Given the description of an element on the screen output the (x, y) to click on. 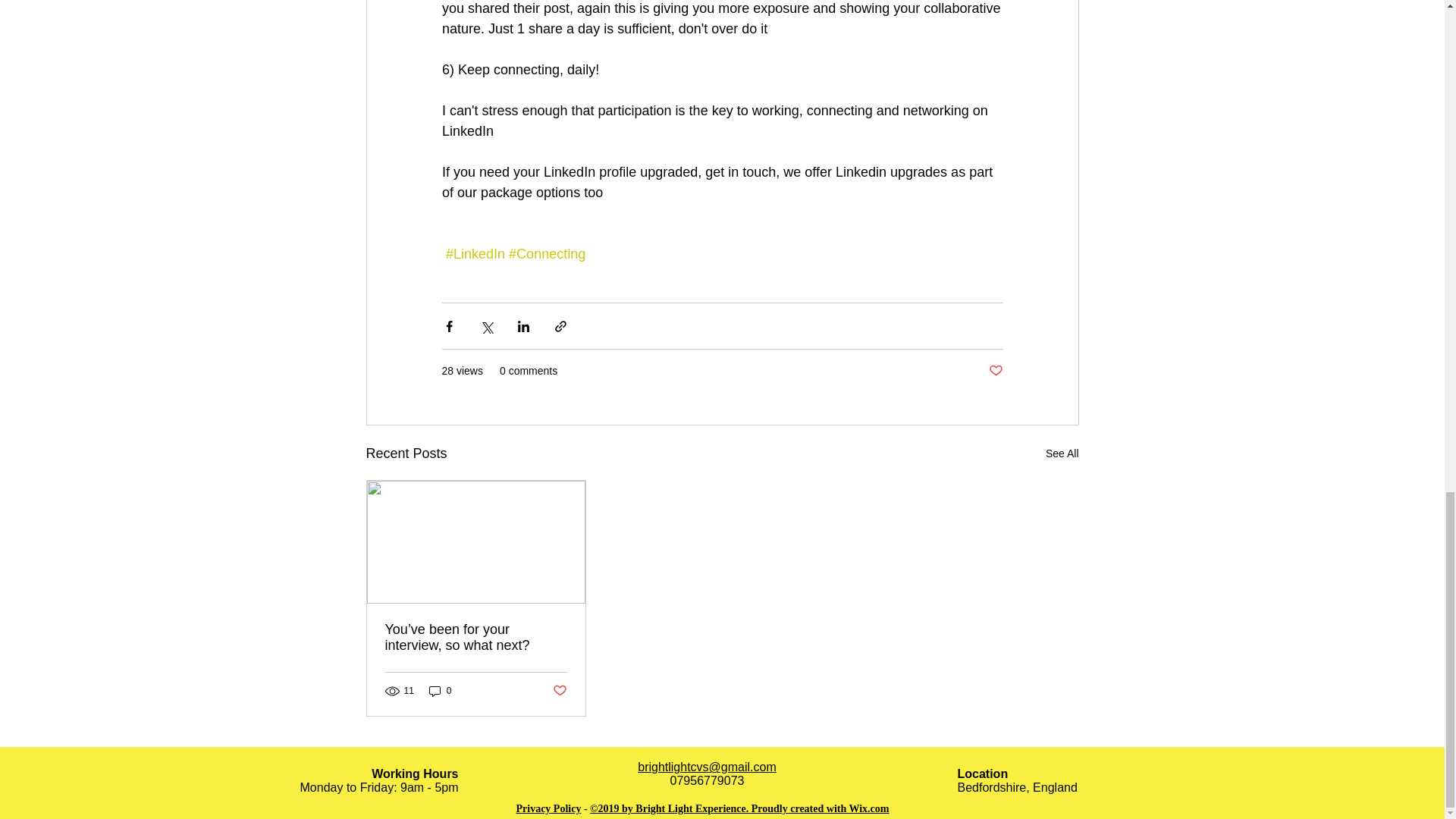
Post not marked as liked (995, 371)
Post not marked as liked (558, 691)
See All (1061, 454)
Privacy Policy (547, 808)
0 (440, 690)
